Given the description of an element on the screen output the (x, y) to click on. 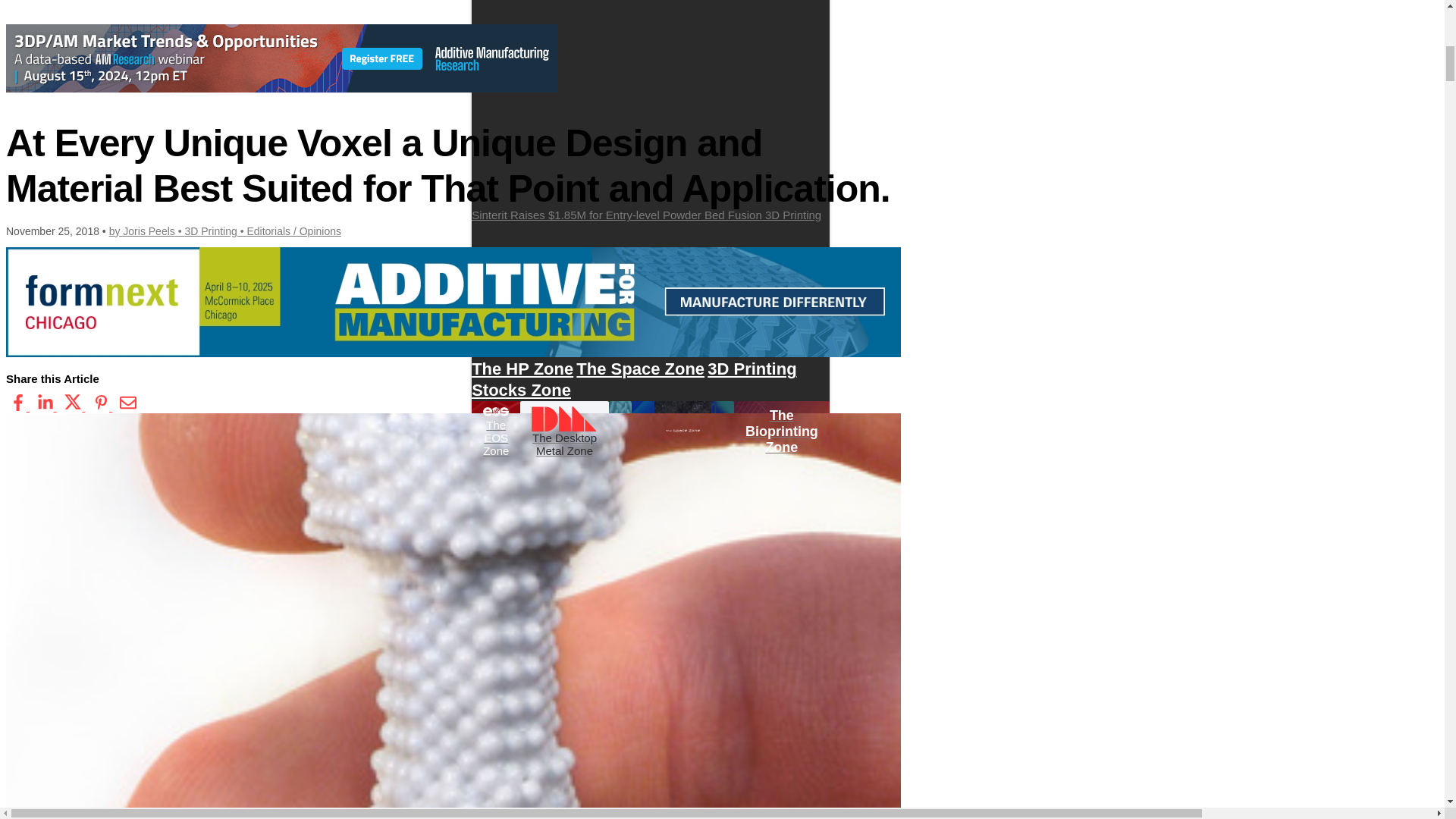
EOS Zone (631, 326)
The Desktop Metal Zone (563, 431)
Bioprinting Zone (581, 347)
Desktop Metal Zone (629, 336)
The Bioprinting Zone (781, 431)
3D Printing Stocks Zone (633, 379)
The Space Zone (640, 368)
The 3D Systems Zone (737, 347)
Zones (491, 275)
View All Zones (529, 326)
The HP Zone (522, 368)
